Given the description of an element on the screen output the (x, y) to click on. 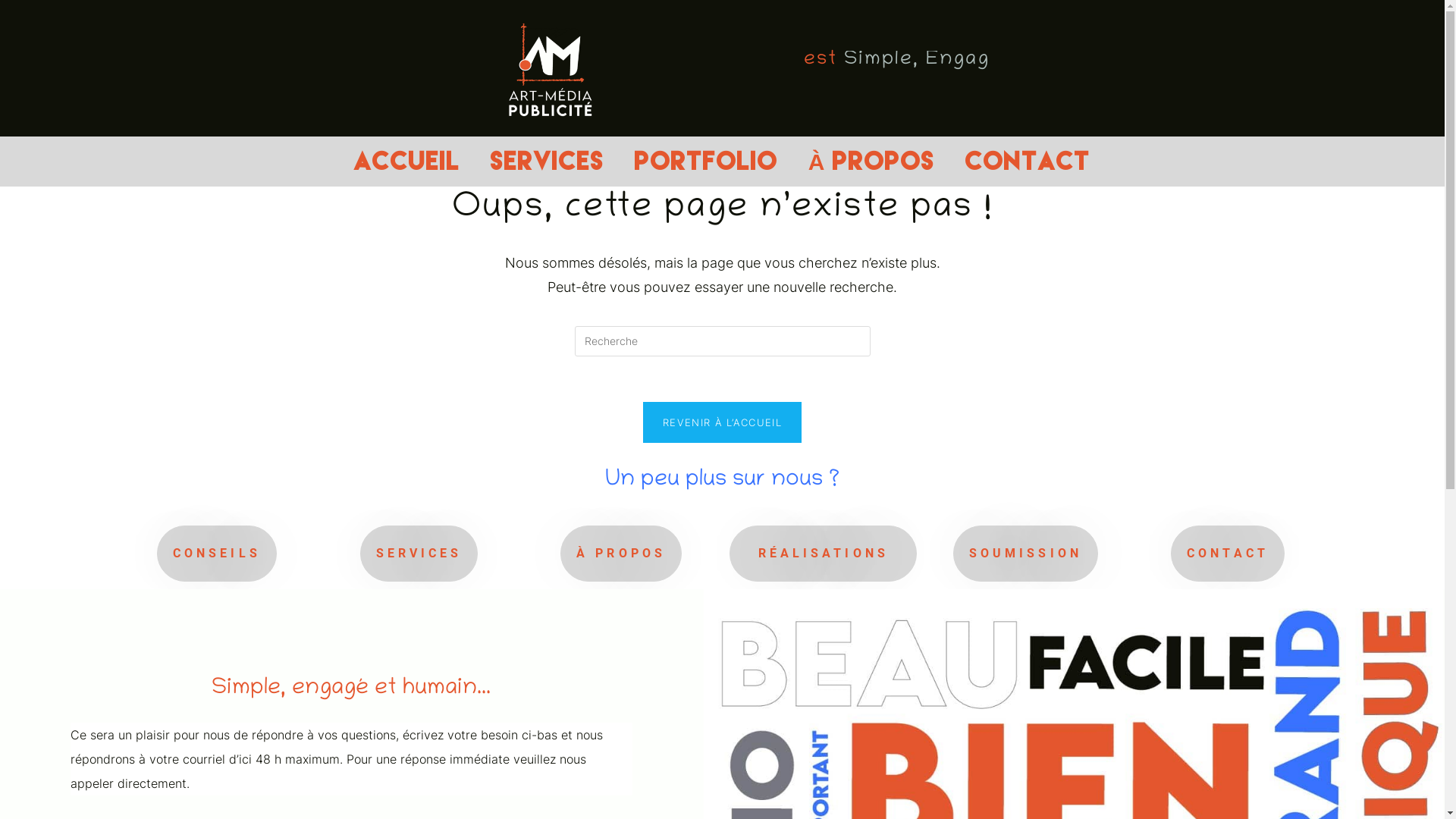
SOUMISSION Element type: text (1025, 553)
SERVICES Element type: text (547, 161)
CONTACT Element type: text (1227, 553)
CONTACT Element type: text (1027, 161)
PORTFOLIO Element type: text (706, 161)
CONSEILS Element type: text (216, 553)
SERVICES Element type: text (419, 553)
ACCUEIL Element type: text (406, 161)
